Given the description of an element on the screen output the (x, y) to click on. 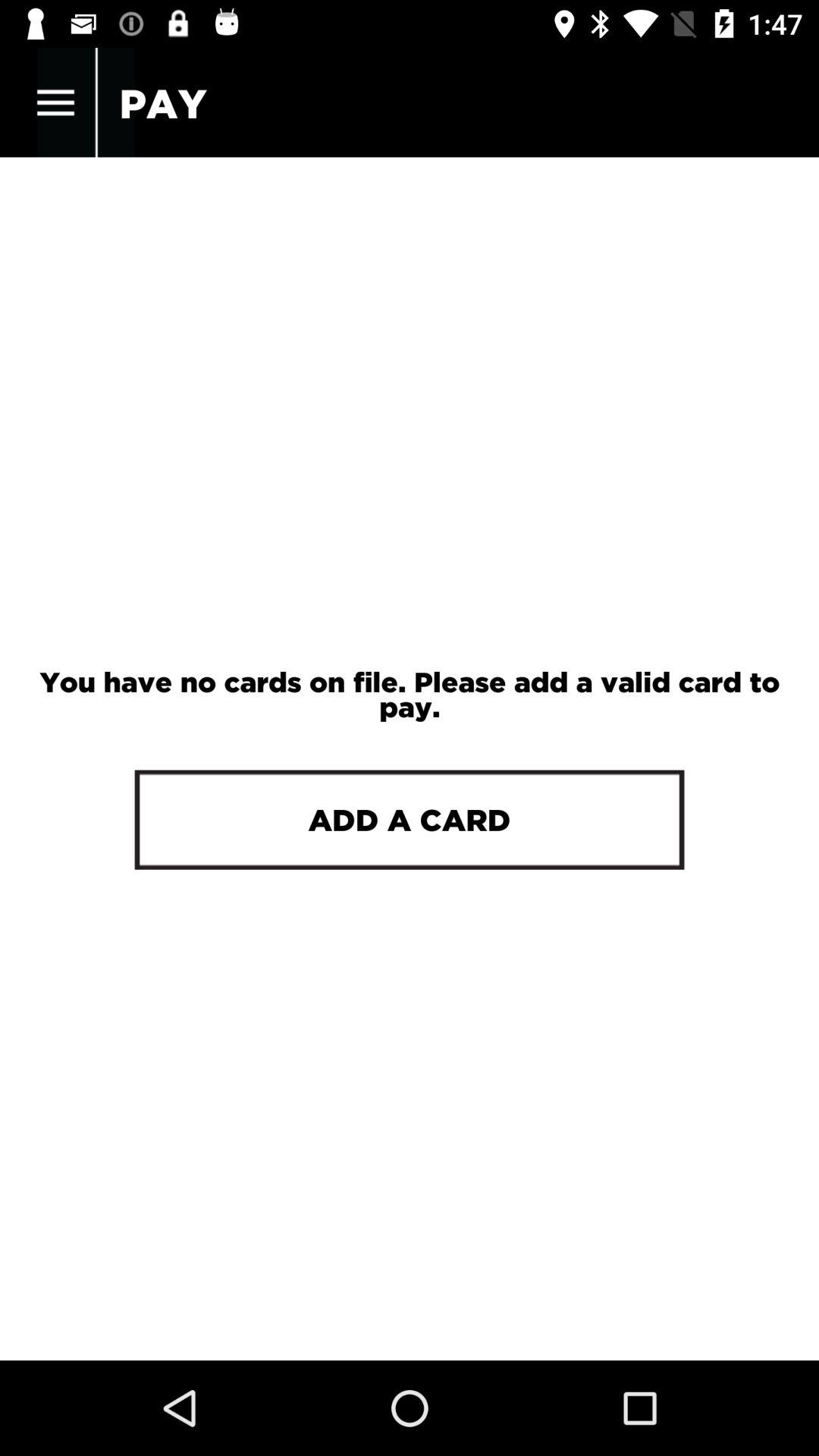
tap the icon to the left of pay item (55, 103)
